Given the description of an element on the screen output the (x, y) to click on. 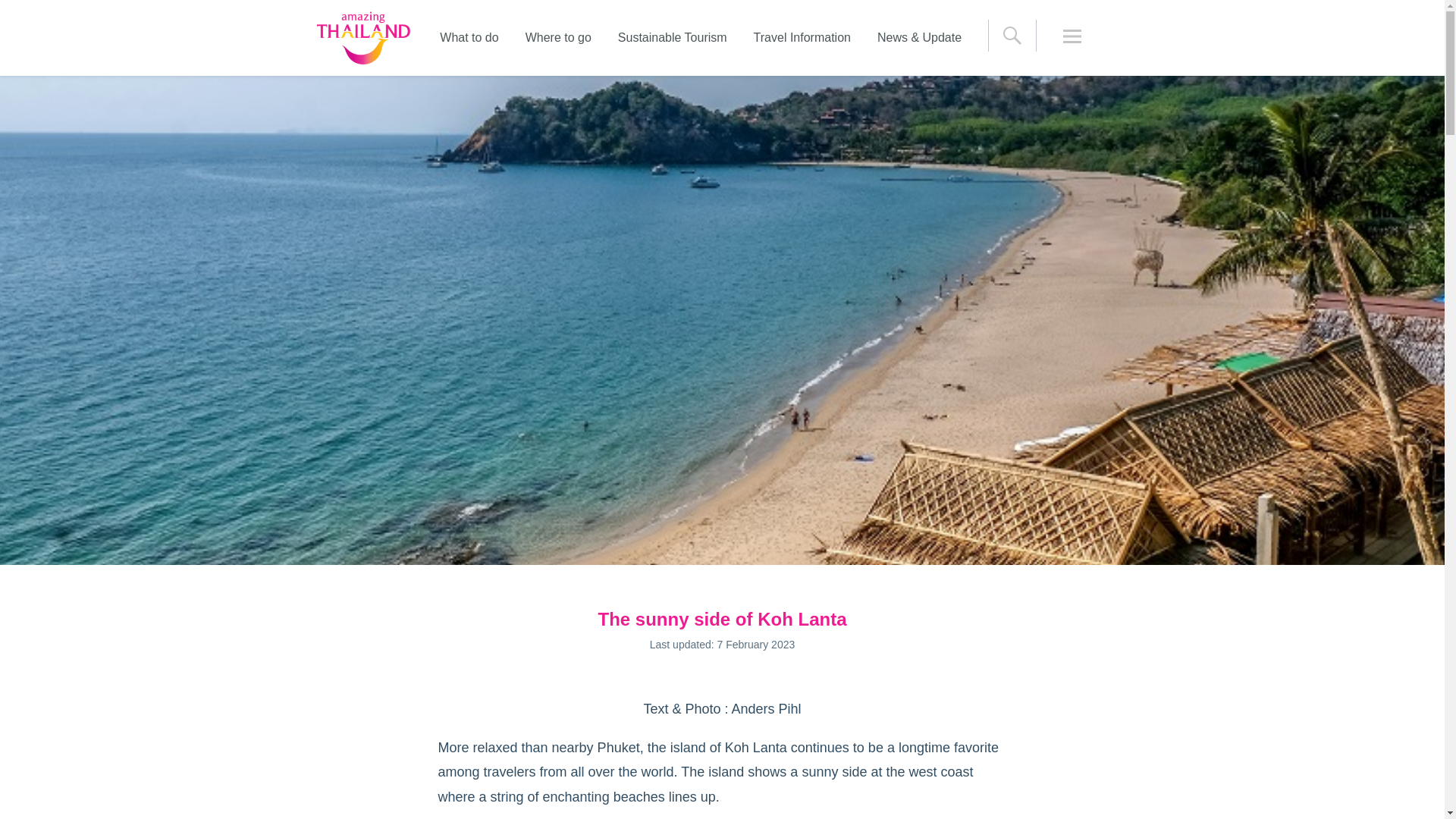
Sustainable Tourism (672, 38)
Where to go (558, 38)
What to do (468, 38)
Travel Information (802, 38)
